Given the description of an element on the screen output the (x, y) to click on. 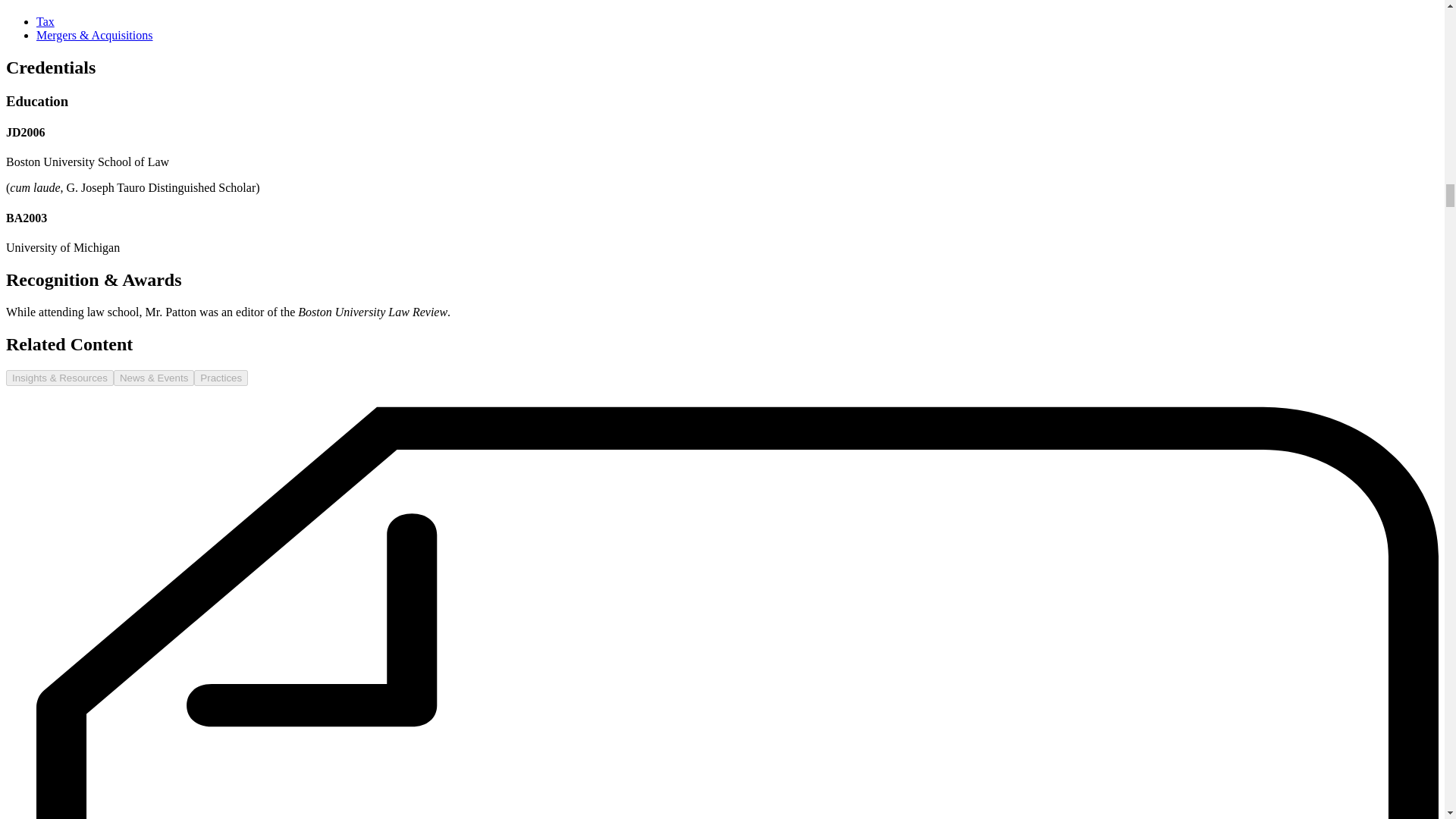
Tax (45, 21)
Practices (220, 377)
